Given the description of an element on the screen output the (x, y) to click on. 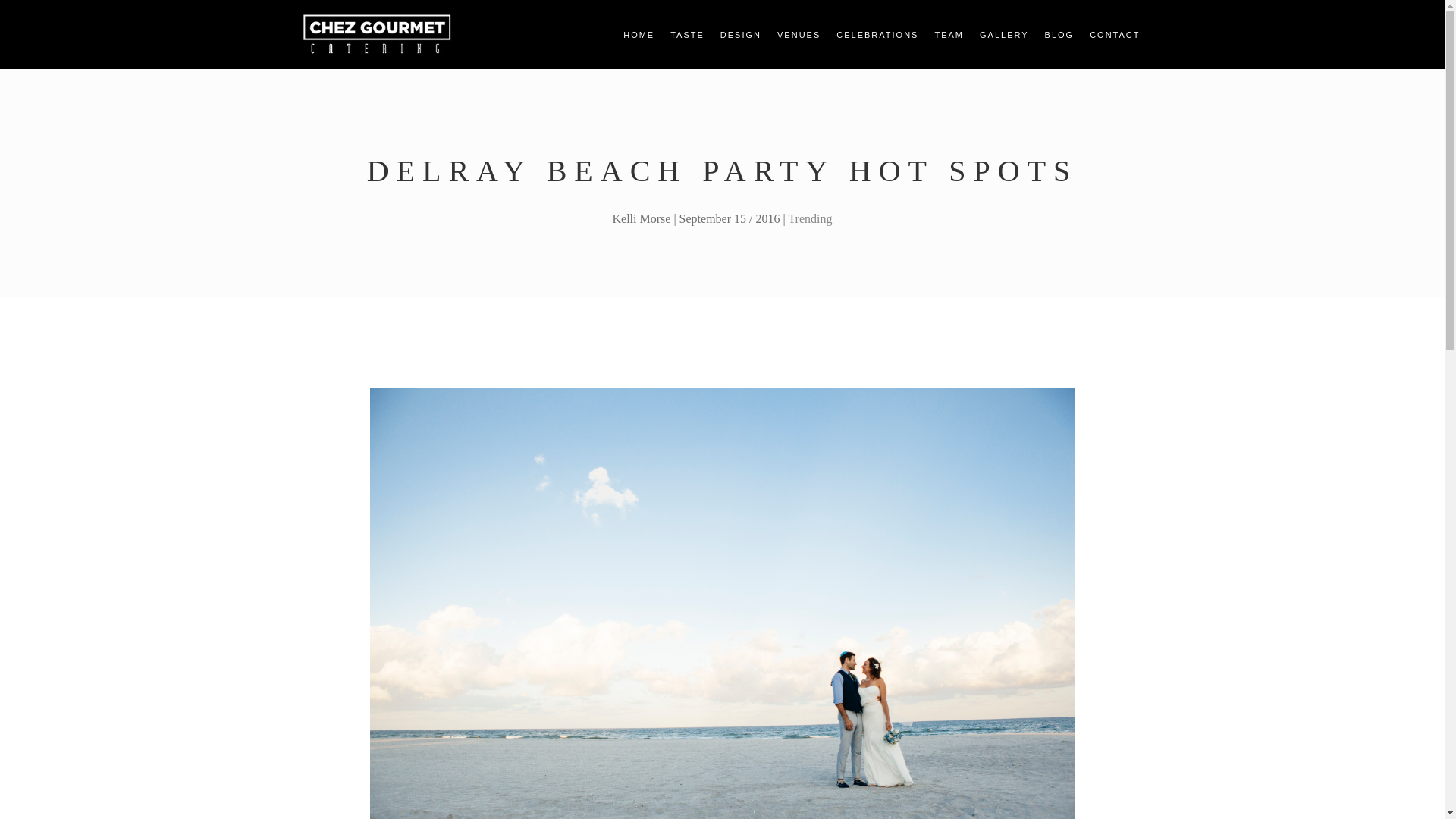
TEAM (947, 33)
HOME (637, 33)
TASTE (686, 33)
BLOG (1058, 33)
Trending (809, 218)
VENUES (797, 33)
DESIGN (739, 33)
CONTACT (1113, 33)
GALLERY (1003, 33)
CELEBRATIONS (876, 33)
View all posts in Trending (809, 218)
